Given the description of an element on the screen output the (x, y) to click on. 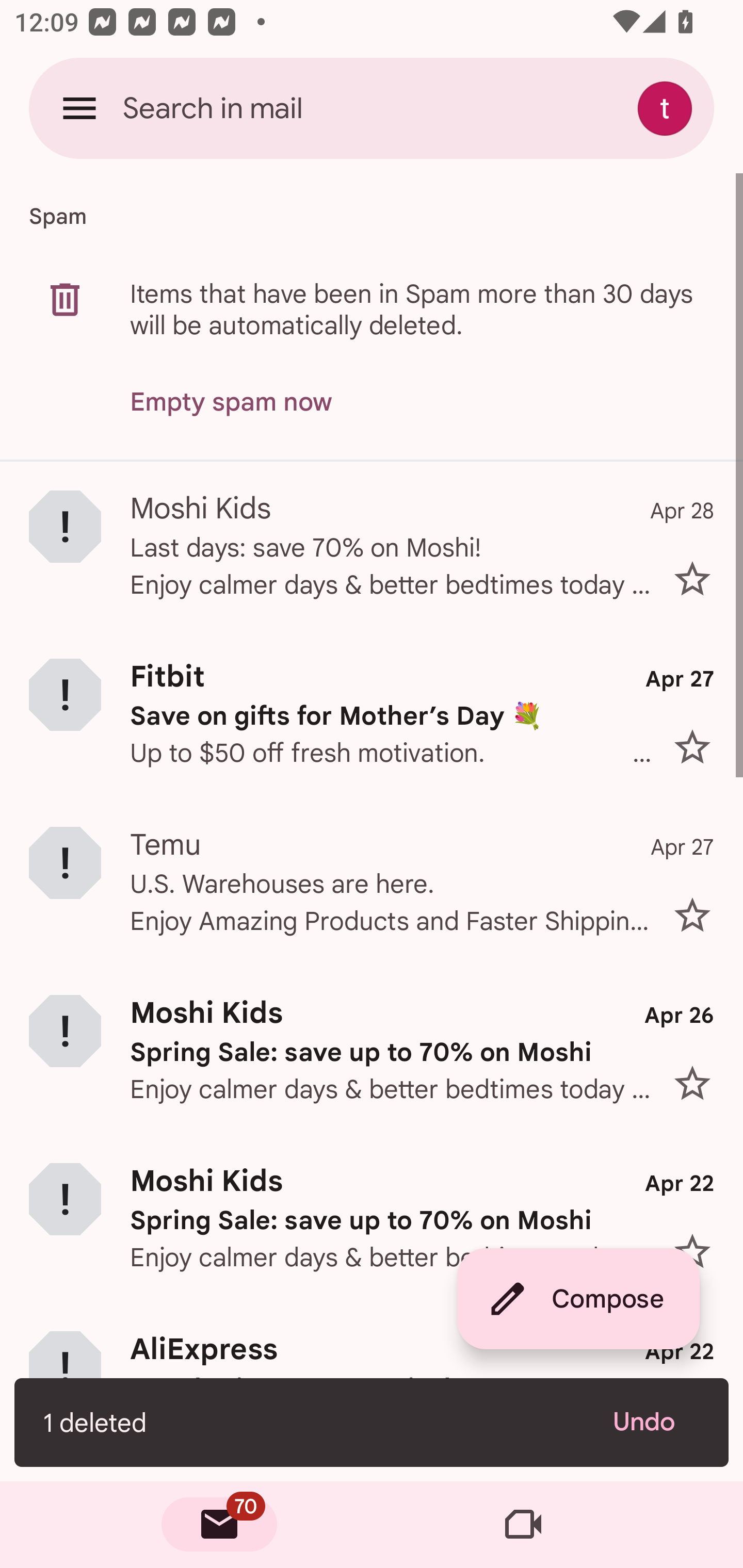
Open navigation drawer (79, 108)
Empty spam now (230, 402)
Compose (577, 1299)
Undo (655, 1422)
Meet (523, 1524)
